Given the description of an element on the screen output the (x, y) to click on. 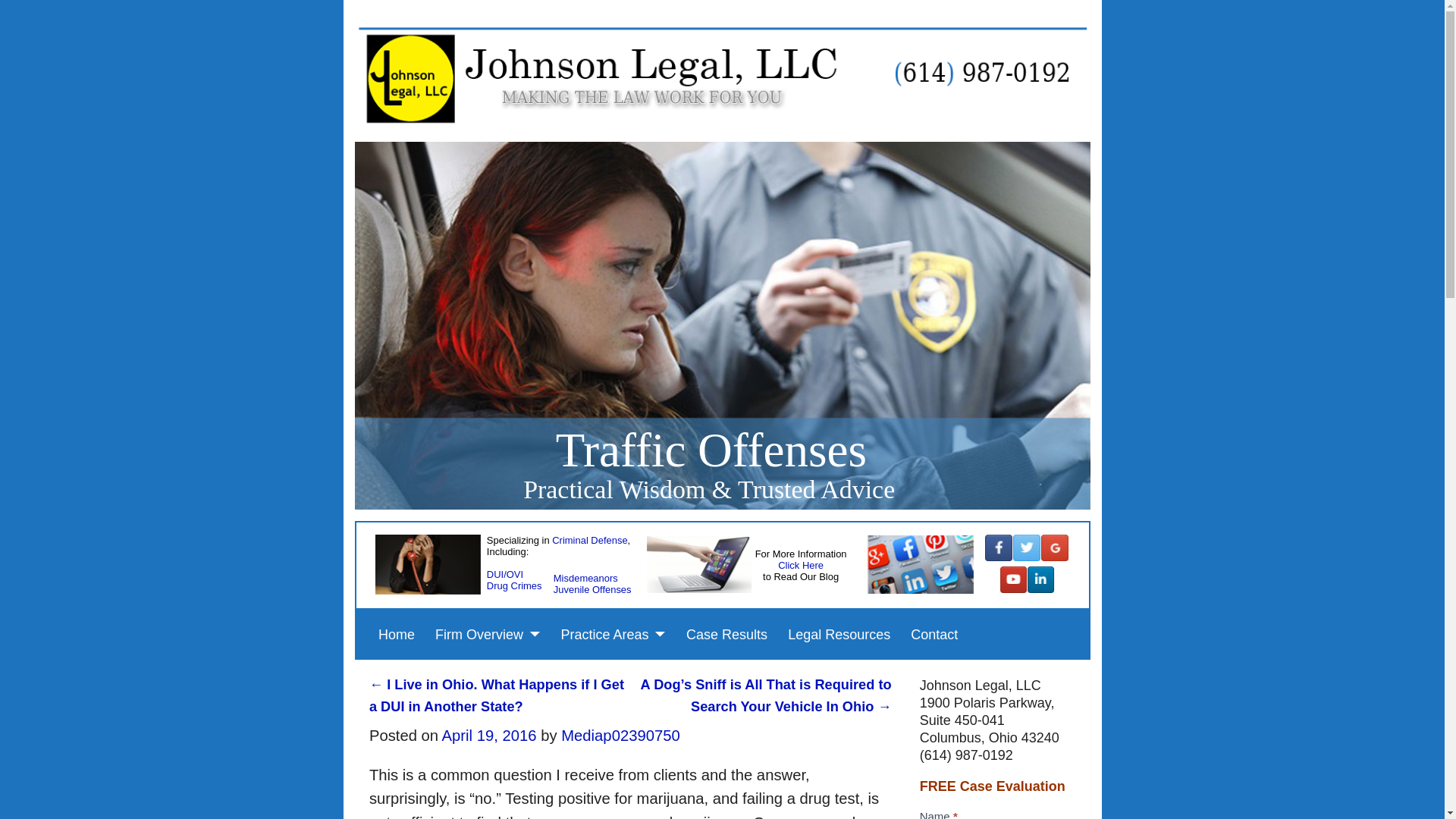
Firm Overview (488, 634)
Home (396, 634)
Misdemeanors (585, 577)
Practice Areas (613, 634)
Juvenile Offenses (591, 588)
View all posts by Mediap02390750 (619, 735)
Criminal Defense (589, 539)
Drug Crimes (513, 584)
4:02 pm (489, 735)
Click Here (800, 564)
